Given the description of an element on the screen output the (x, y) to click on. 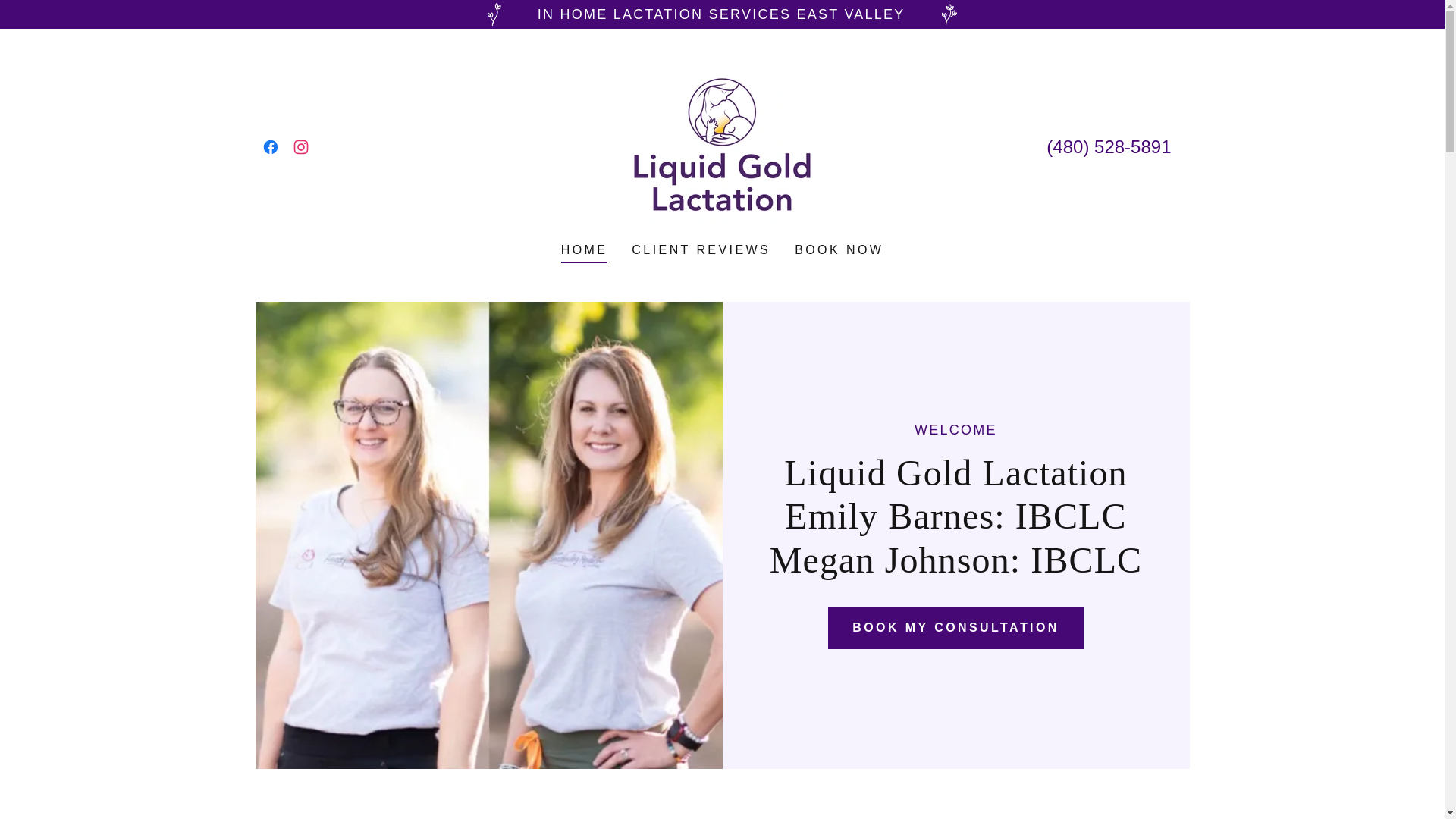
BOOK MY CONSULTATION (955, 627)
CLIENT REVIEWS (700, 249)
BOOK NOW (839, 249)
HOME (584, 251)
